Given the description of an element on the screen output the (x, y) to click on. 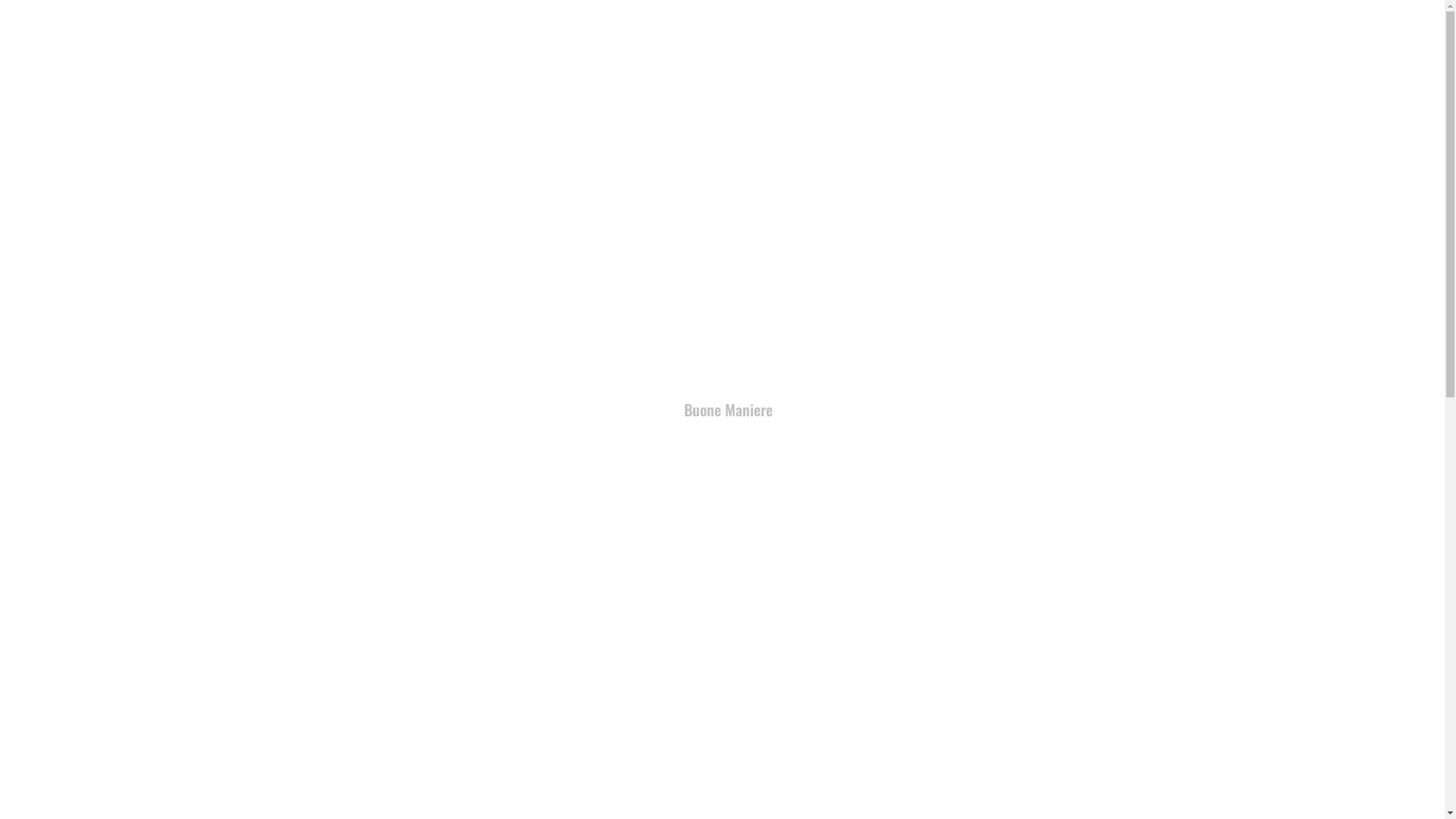
TRAITEUR Element type: text (1183, 25)
Buone  Maniere  Element type: hover (1012, 524)
Buone  Maniere  Element type: hover (722, 524)
Buone  Maniere  Element type: hover (431, 622)
CARTES & MENUS Element type: text (1063, 25)
Buone  Maniere  Element type: hover (1012, 743)
PHOTOS Element type: text (1131, 25)
Buone  Maniere  Element type: hover (431, 743)
Buone Maniere Element type: text (55, 26)
Buone Maniere Element type: text (728, 409)
